Given the description of an element on the screen output the (x, y) to click on. 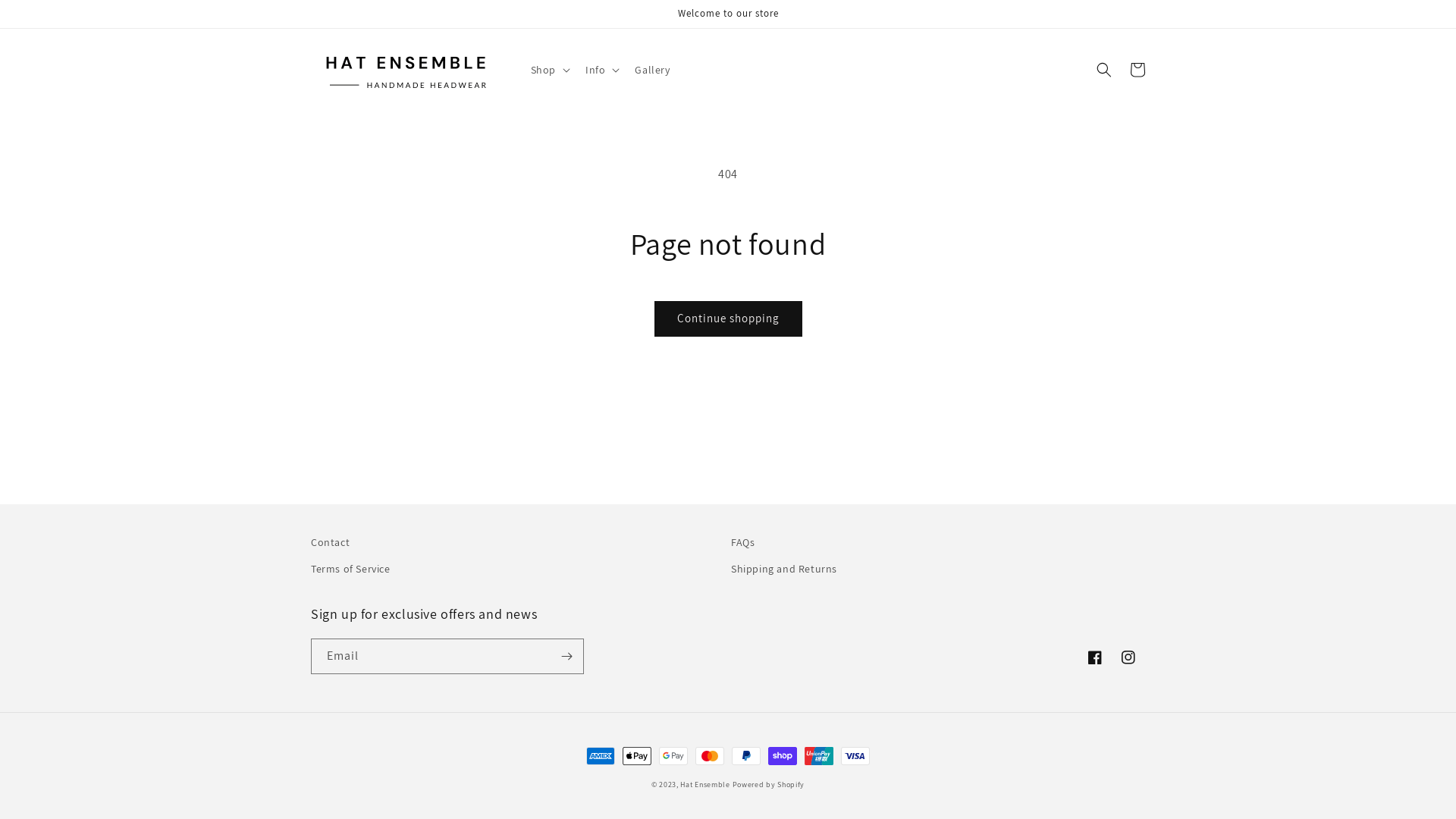
FAQs Element type: text (742, 544)
Facebook Element type: text (1094, 657)
Shipping and Returns Element type: text (784, 568)
Powered by Shopify Element type: text (768, 784)
Gallery Element type: text (651, 69)
Continue shopping Element type: text (727, 318)
Terms of Service Element type: text (350, 568)
Instagram Element type: text (1128, 657)
Hat Ensemble Element type: text (704, 784)
Cart Element type: text (1137, 69)
Contact Element type: text (329, 544)
